Given the description of an element on the screen output the (x, y) to click on. 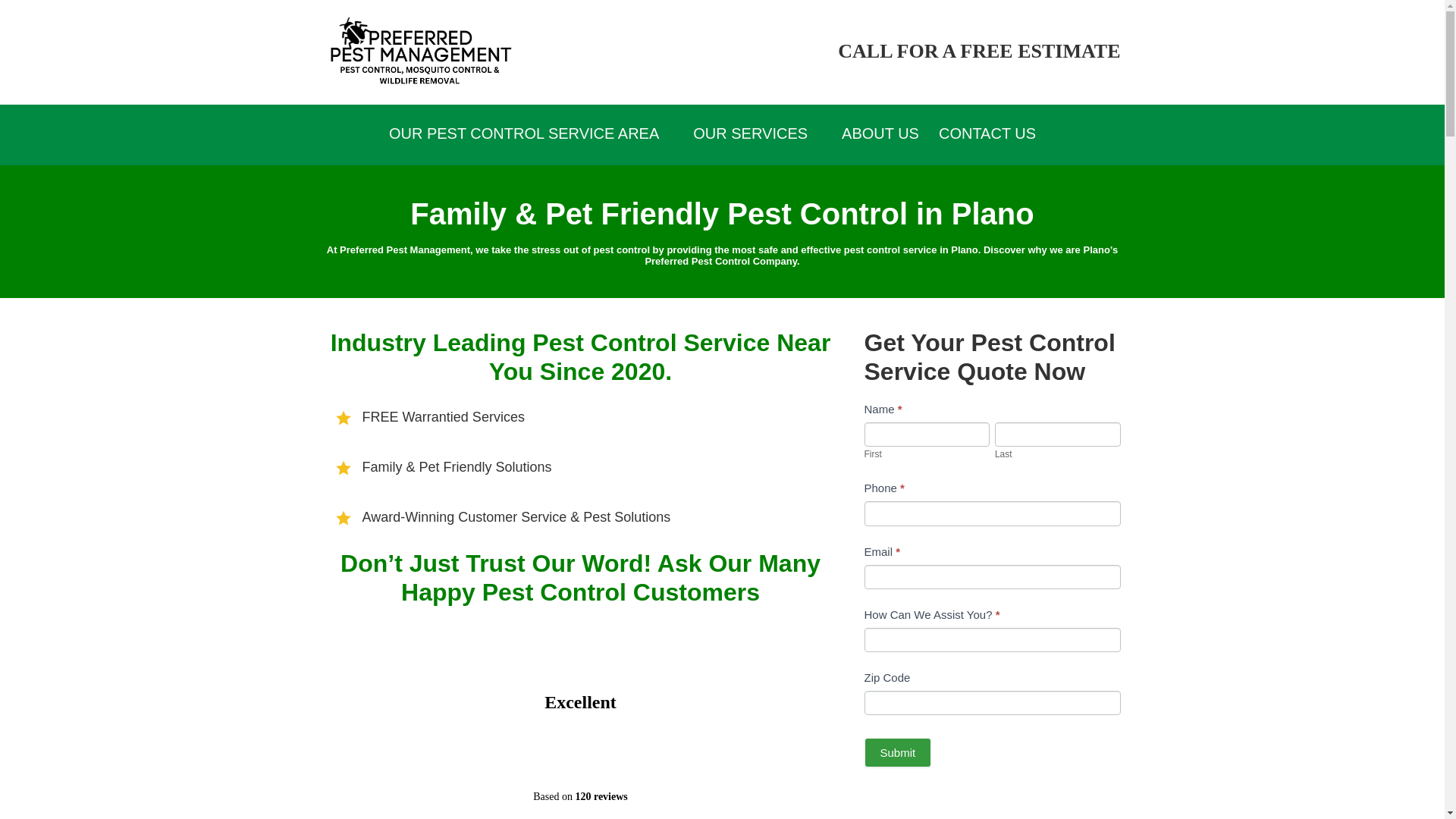
CALL FOR A FREE ESTIMATE (978, 51)
CONTACT US (987, 133)
Submit (897, 752)
ABOUT US (879, 133)
OUR PEST CONTROL SERVICE AREA (530, 133)
OUR SERVICES (757, 133)
Our Pest Control Service Area (530, 133)
